Given the description of an element on the screen output the (x, y) to click on. 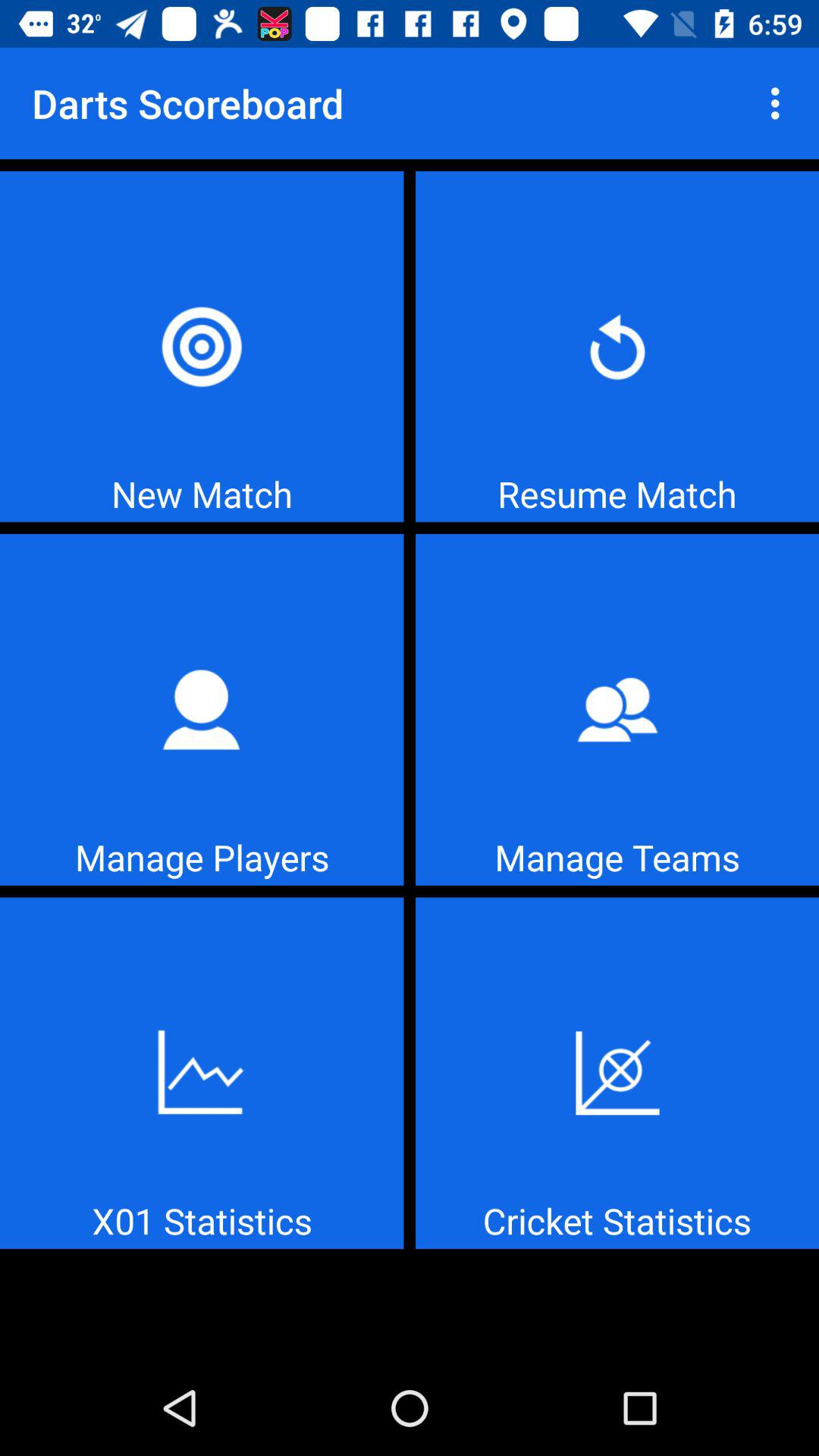
select the manage teams section (617, 709)
